Given the description of an element on the screen output the (x, y) to click on. 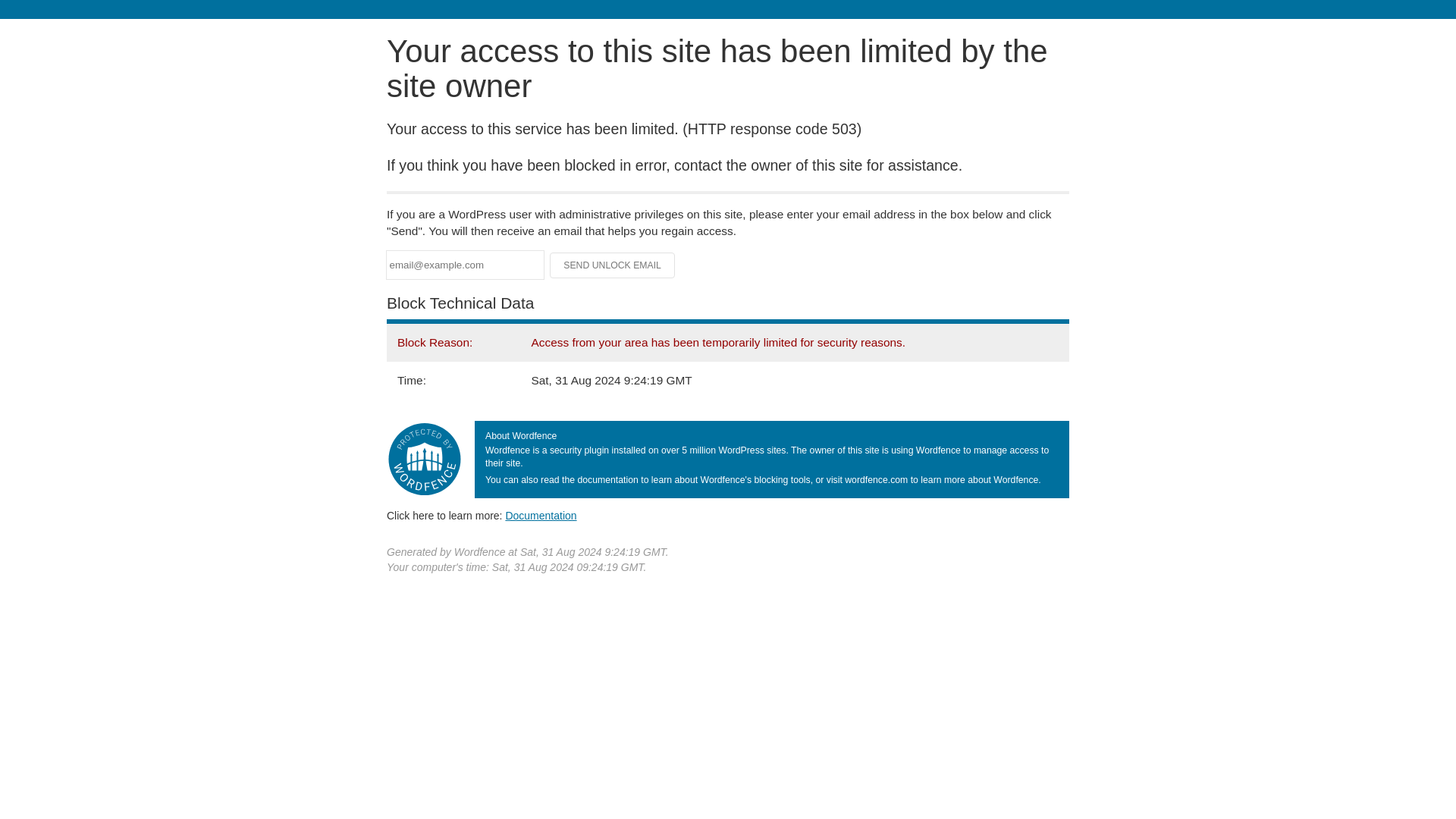
Documentation (540, 515)
Send Unlock Email (612, 265)
Send Unlock Email (612, 265)
